Given the description of an element on the screen output the (x, y) to click on. 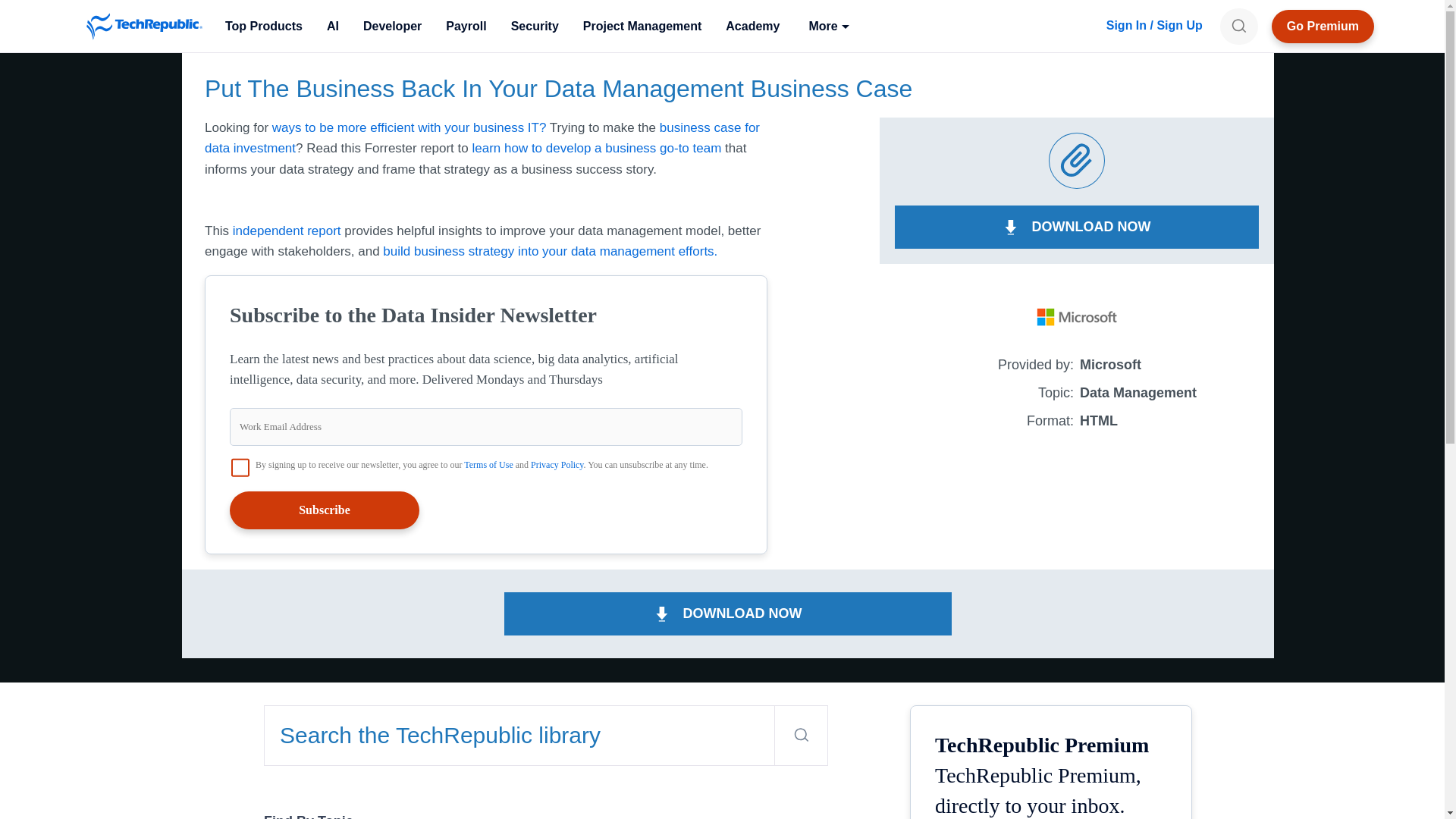
TechRepublic (143, 25)
TechRepublic (143, 25)
TechRepublic (143, 25)
Developer (392, 26)
Go Premium (1322, 25)
TechRepublic Premium (1322, 25)
Terms of Use (488, 464)
ways to be more efficient with your business IT? (409, 127)
Security (534, 26)
Top Products (263, 26)
business case for data investment (482, 137)
independent report (286, 230)
learn how to develop a business go-to team (595, 147)
Academy (752, 26)
Payroll (465, 26)
